Given the description of an element on the screen output the (x, y) to click on. 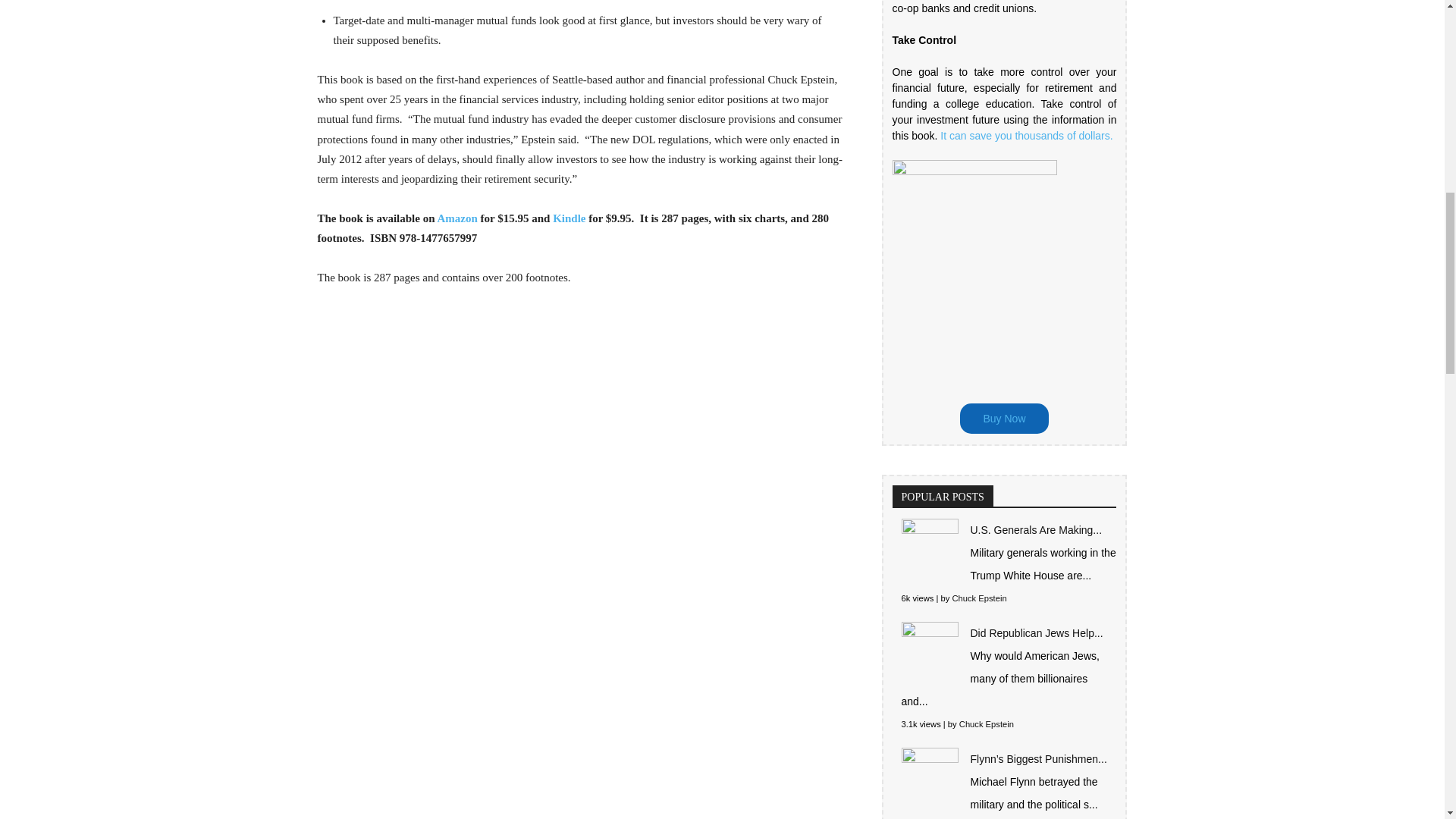
Kindle (570, 218)
It can save you thousands of dollars. (1026, 135)
Amazon (456, 218)
Kindle (570, 218)
U.S. Generals Are Making... (1036, 530)
Buy Now (1003, 418)
Amazon (456, 218)
